Given the description of an element on the screen output the (x, y) to click on. 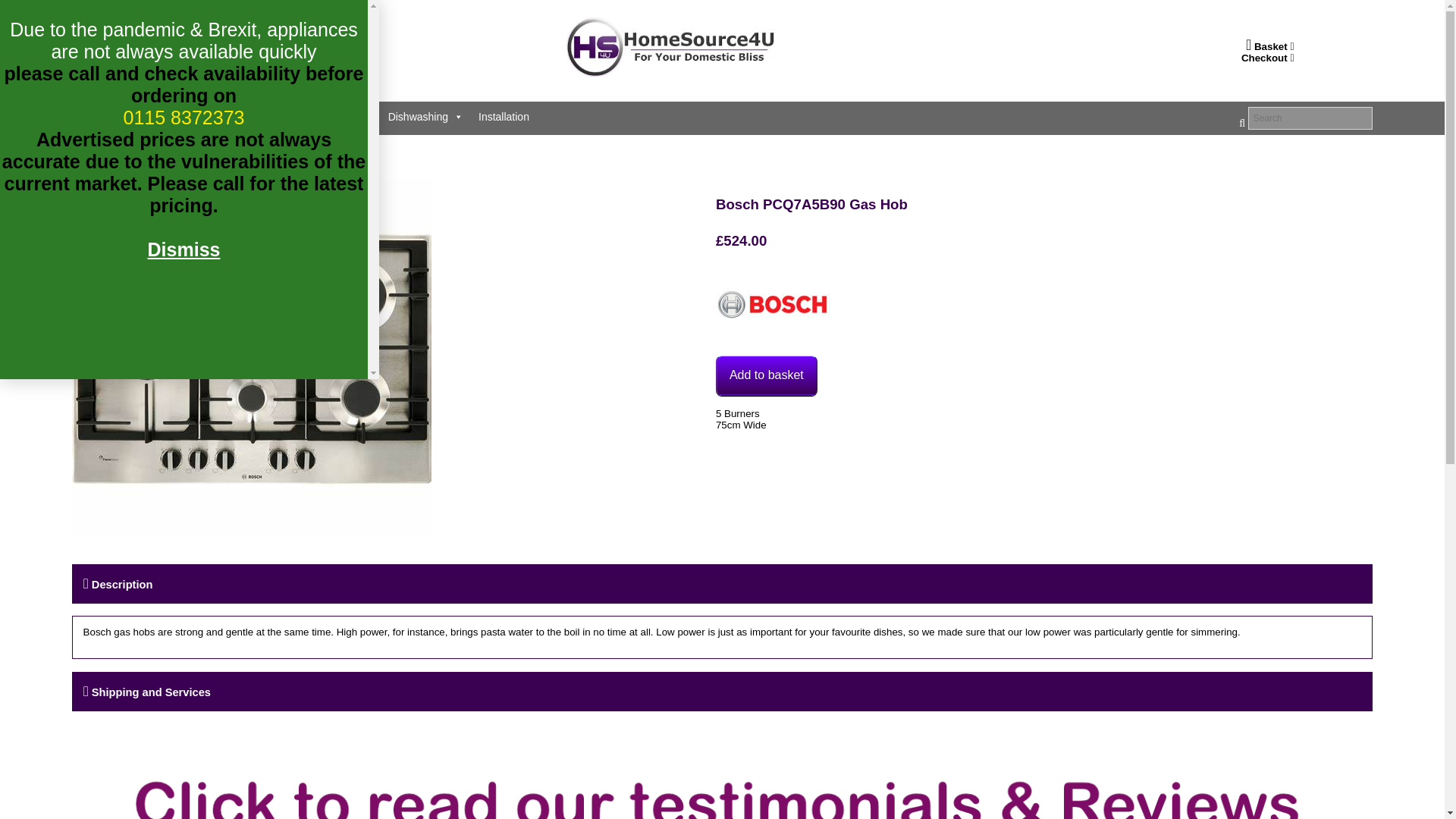
0115 8372373 (237, 60)
Checkout (1270, 57)
Cooking (186, 116)
About (122, 116)
Bosch (772, 306)
Homesource 4U Appliance Centre (670, 72)
View your shopping cart (1273, 46)
Laundry (255, 116)
Refrigeration (334, 116)
Straight to checkout with your current basket (1270, 57)
PCS7A5B90 (250, 358)
